Given the description of an element on the screen output the (x, y) to click on. 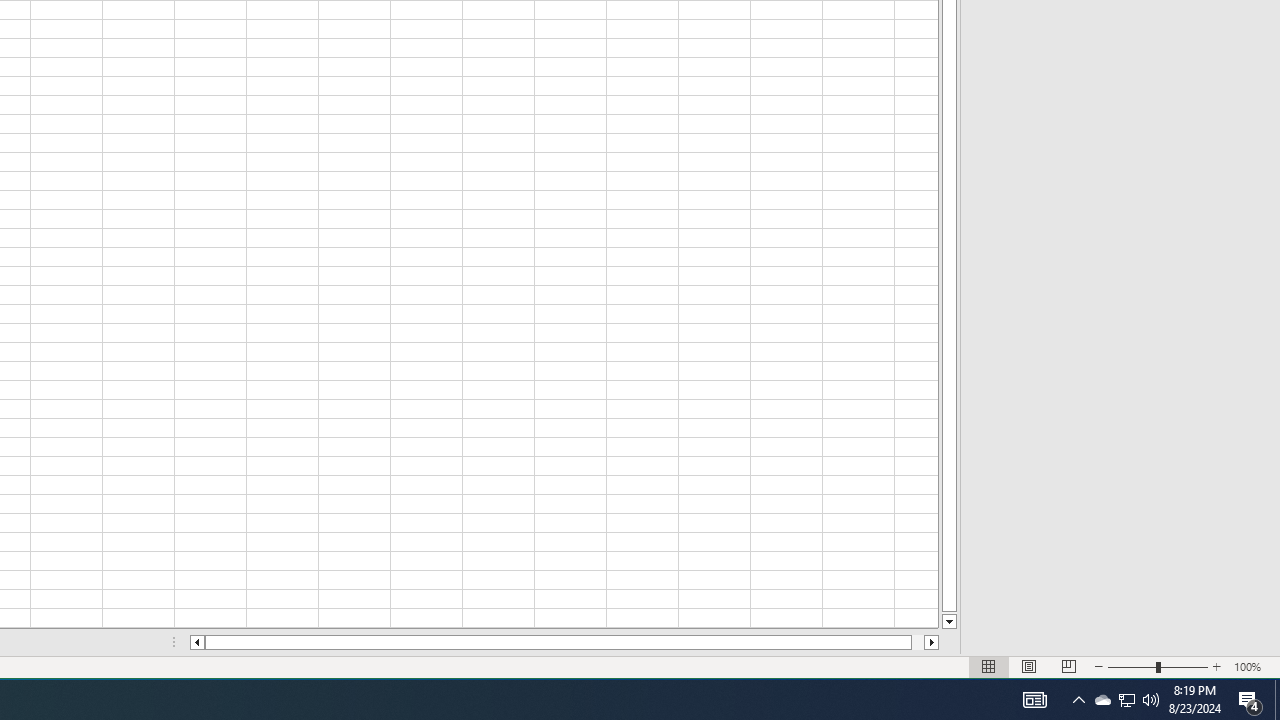
Zoom Out (1131, 667)
Q2790: 100% (1151, 699)
Notification Chevron (1078, 699)
Action Center, 4 new notifications (1250, 699)
Line down (948, 622)
